Given the description of an element on the screen output the (x, y) to click on. 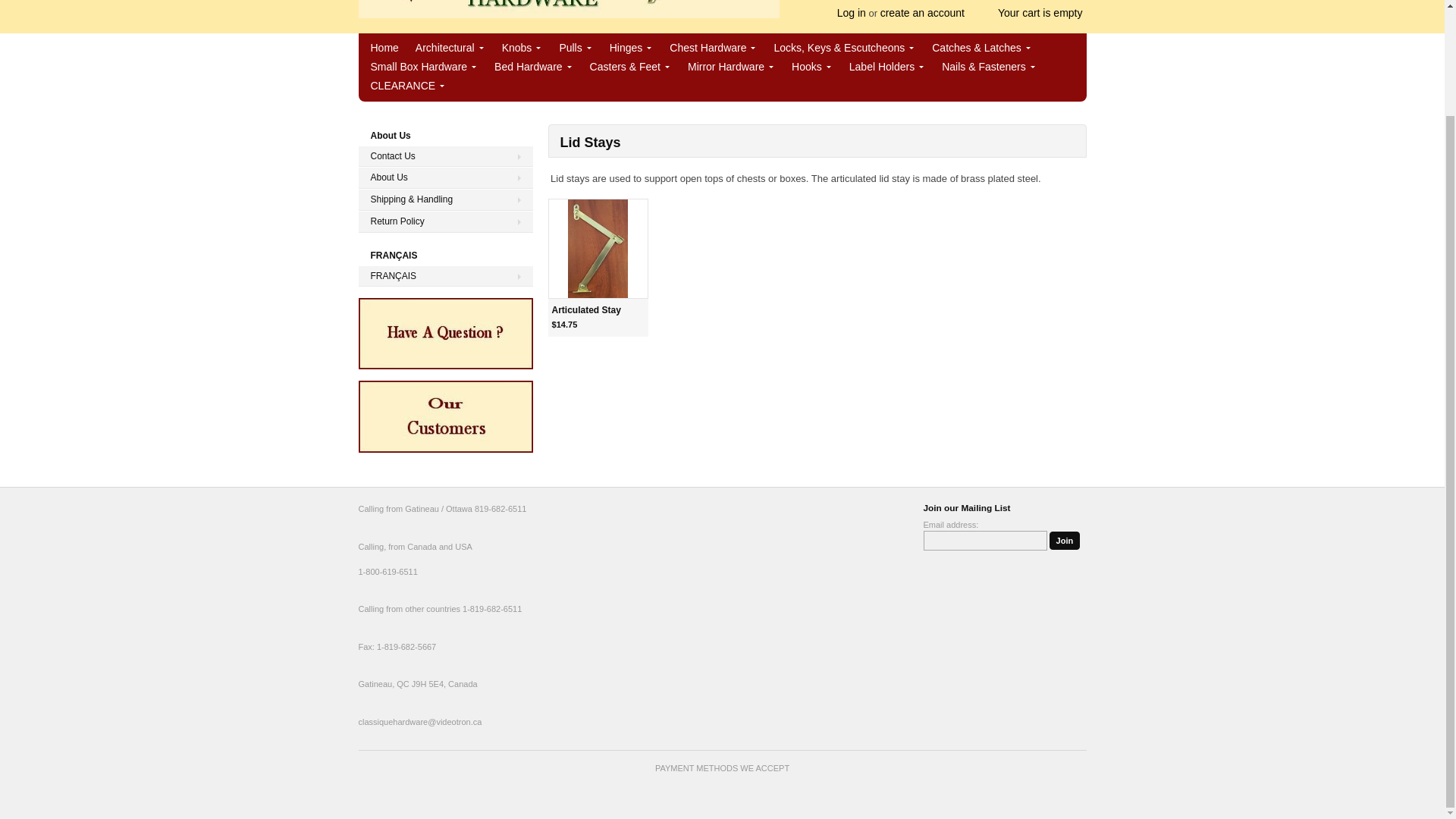
create an account (921, 12)
Architectural (449, 47)
Home (568, 11)
Your cart is empty (1032, 12)
Log in (851, 12)
Return Policy  (445, 221)
Knobs (522, 47)
About Us (445, 178)
Join (1064, 540)
Pulls (575, 47)
